Given the description of an element on the screen output the (x, y) to click on. 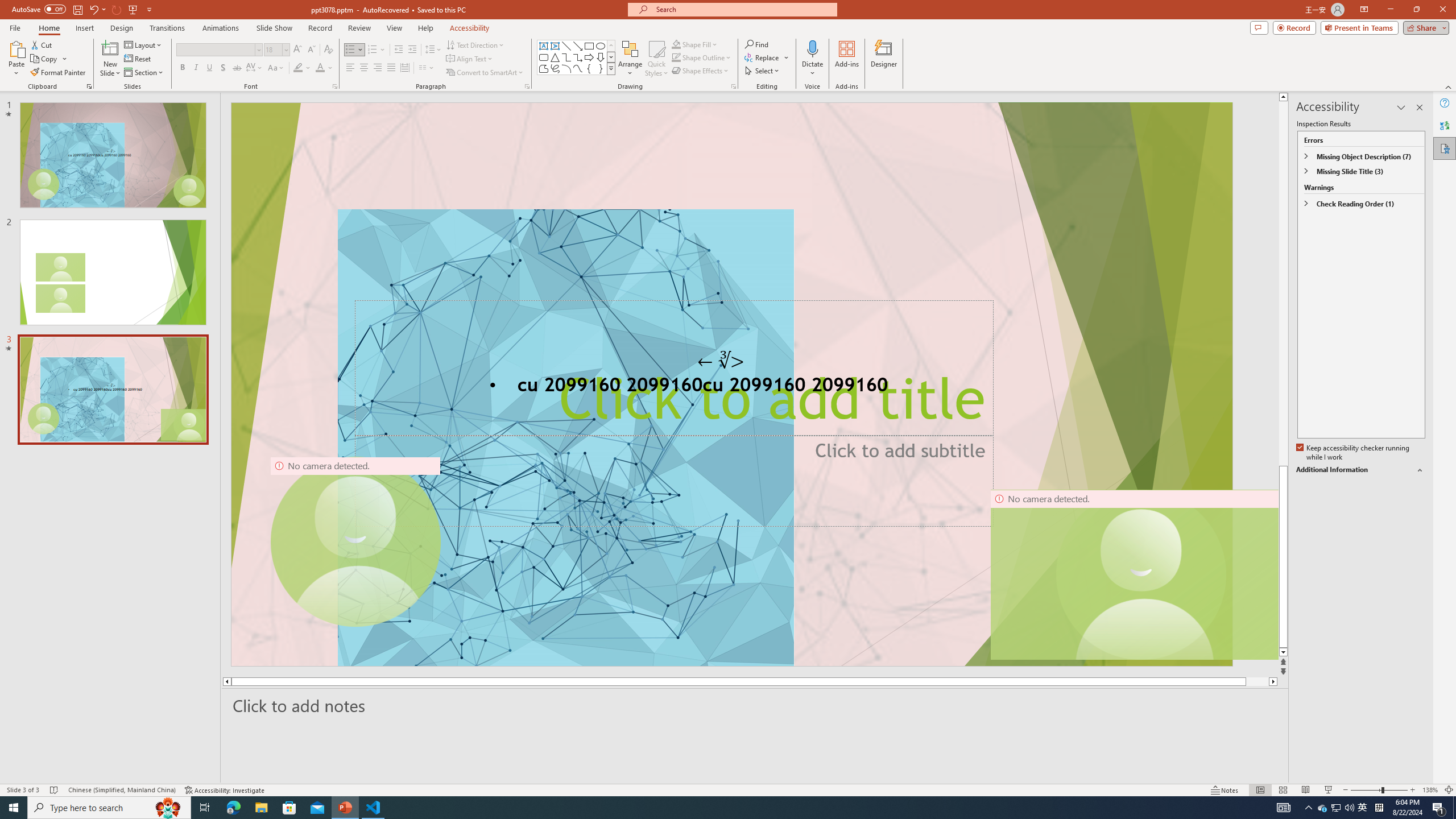
Shape Fill Dark Green, Accent 2 (675, 44)
